Given the description of an element on the screen output the (x, y) to click on. 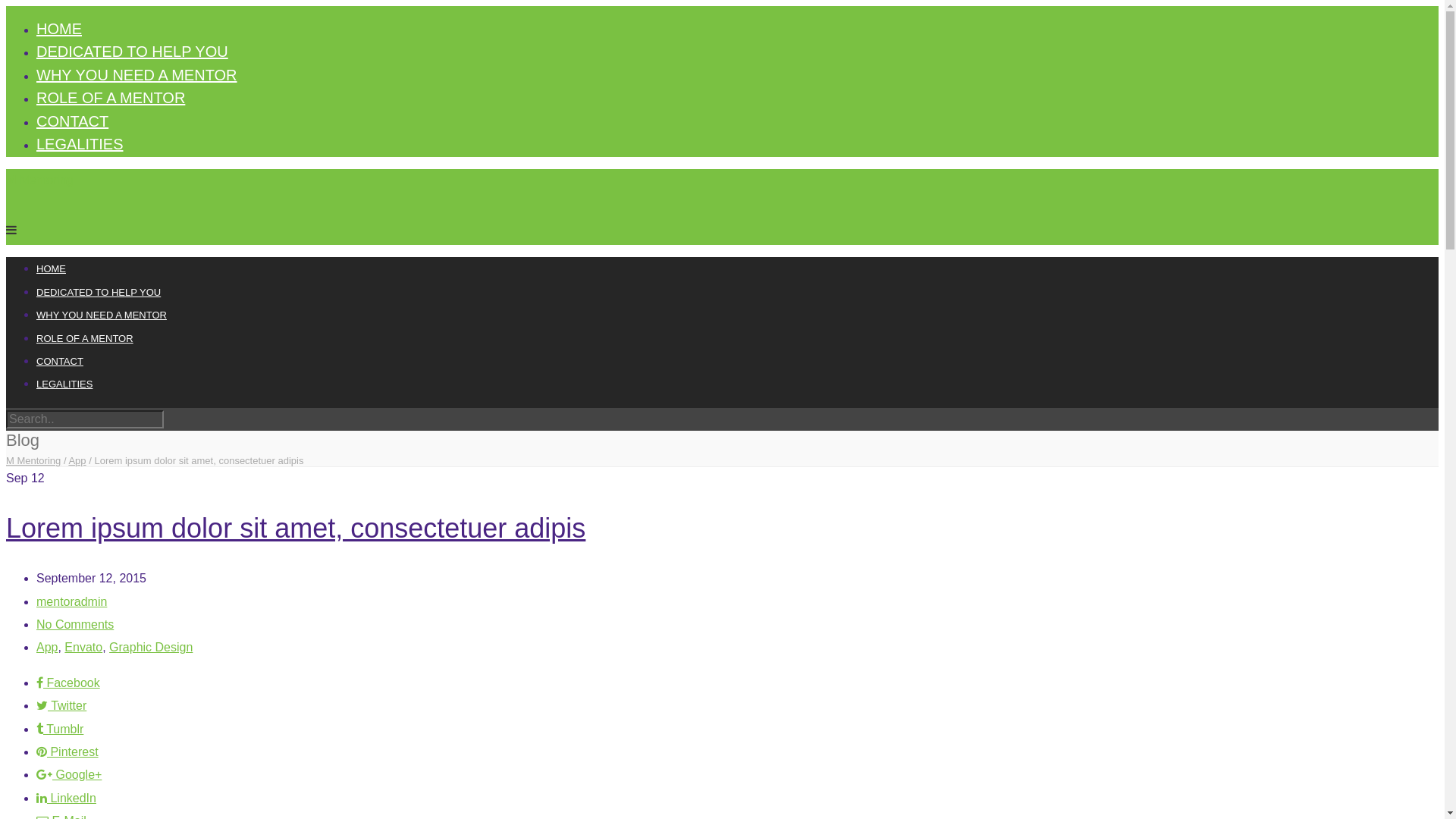
Facebook Element type: text (68, 682)
DEDICATED TO HELP YOU Element type: text (98, 292)
DEDICATED TO HELP YOU Element type: text (132, 51)
LEGALITIES Element type: text (64, 383)
WHY YOU NEED A MENTOR Element type: text (136, 74)
Graphic Design Element type: text (150, 646)
Google+ Element type: text (68, 774)
Envato Element type: text (83, 646)
CONTACT Element type: text (72, 120)
ROLE OF A MENTOR Element type: text (110, 97)
Pinterest Element type: text (67, 751)
LEGALITIES Element type: text (79, 143)
LinkedIn Element type: text (66, 797)
CONTACT Element type: text (59, 361)
Lorem ipsum dolor sit amet, consectetuer adipis Element type: text (295, 527)
App Element type: text (46, 646)
No Comments Element type: text (74, 624)
Tumblr Element type: text (59, 728)
HOME Element type: text (50, 268)
App Element type: text (76, 460)
M Mentoring Element type: text (39, 179)
ROLE OF A MENTOR Element type: text (84, 338)
mentoradmin Element type: text (71, 601)
M Mentoring Element type: text (33, 460)
HOME Element type: text (58, 28)
WHY YOU NEED A MENTOR Element type: text (101, 314)
Twitter Element type: text (61, 705)
